Given the description of an element on the screen output the (x, y) to click on. 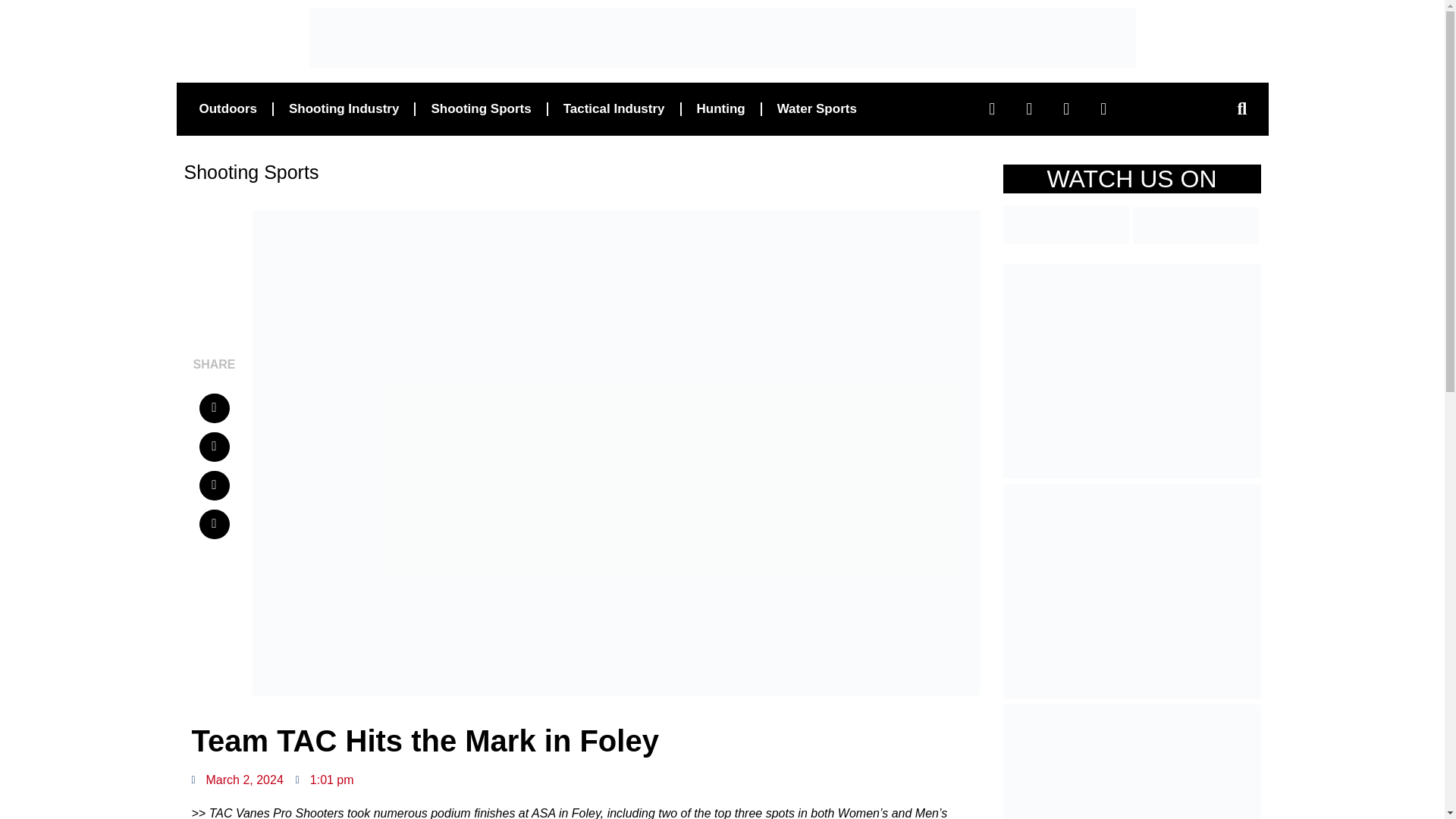
Shooting Industry (343, 108)
Shooting Sports (480, 108)
Tactical Industry (613, 108)
March 2, 2024 (236, 779)
Outdoors (227, 108)
Water Sports (816, 108)
Hunting (720, 108)
